Given the description of an element on the screen output the (x, y) to click on. 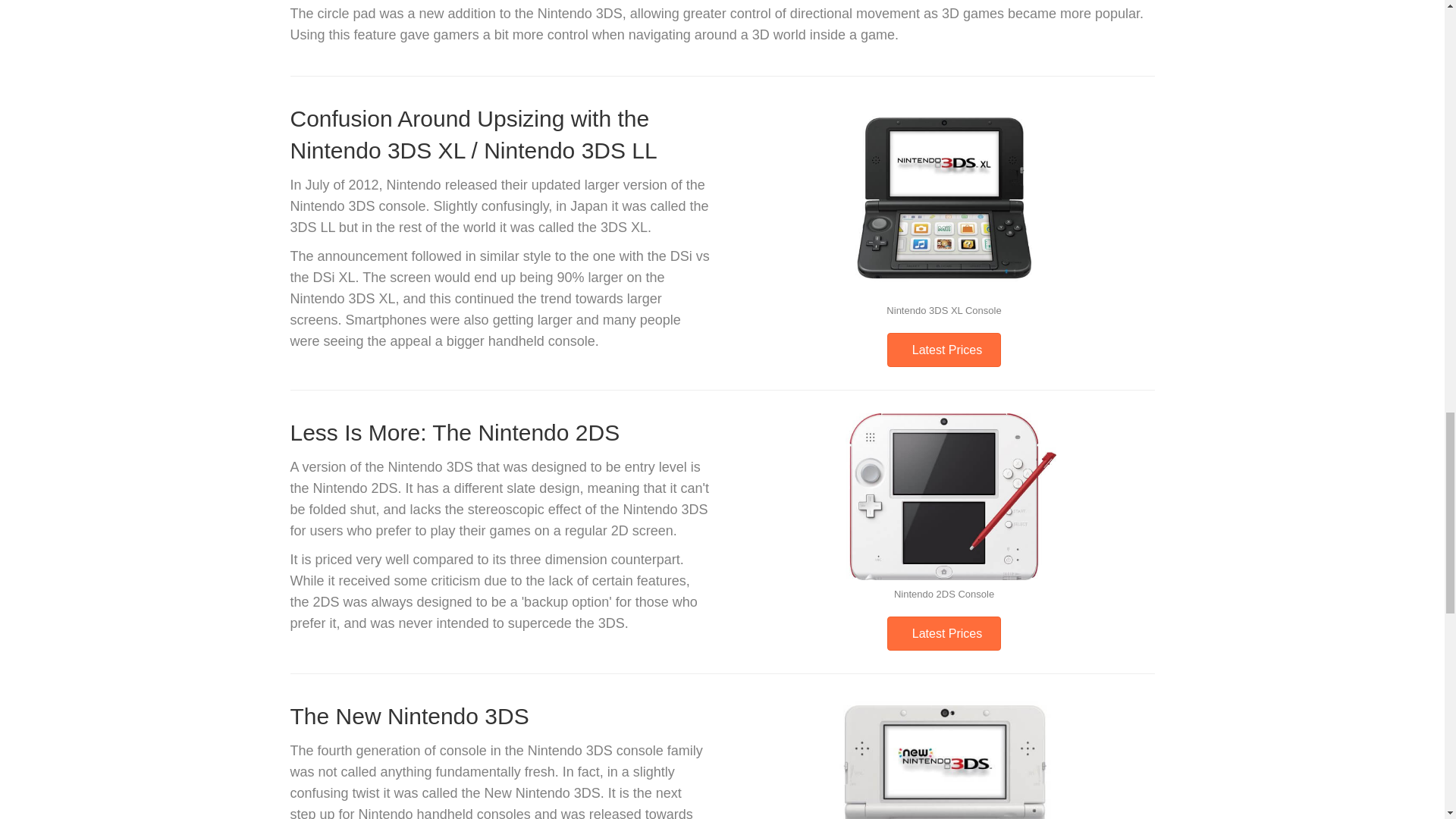
Latest Prices (943, 349)
Latest Prices (943, 633)
